Given the description of an element on the screen output the (x, y) to click on. 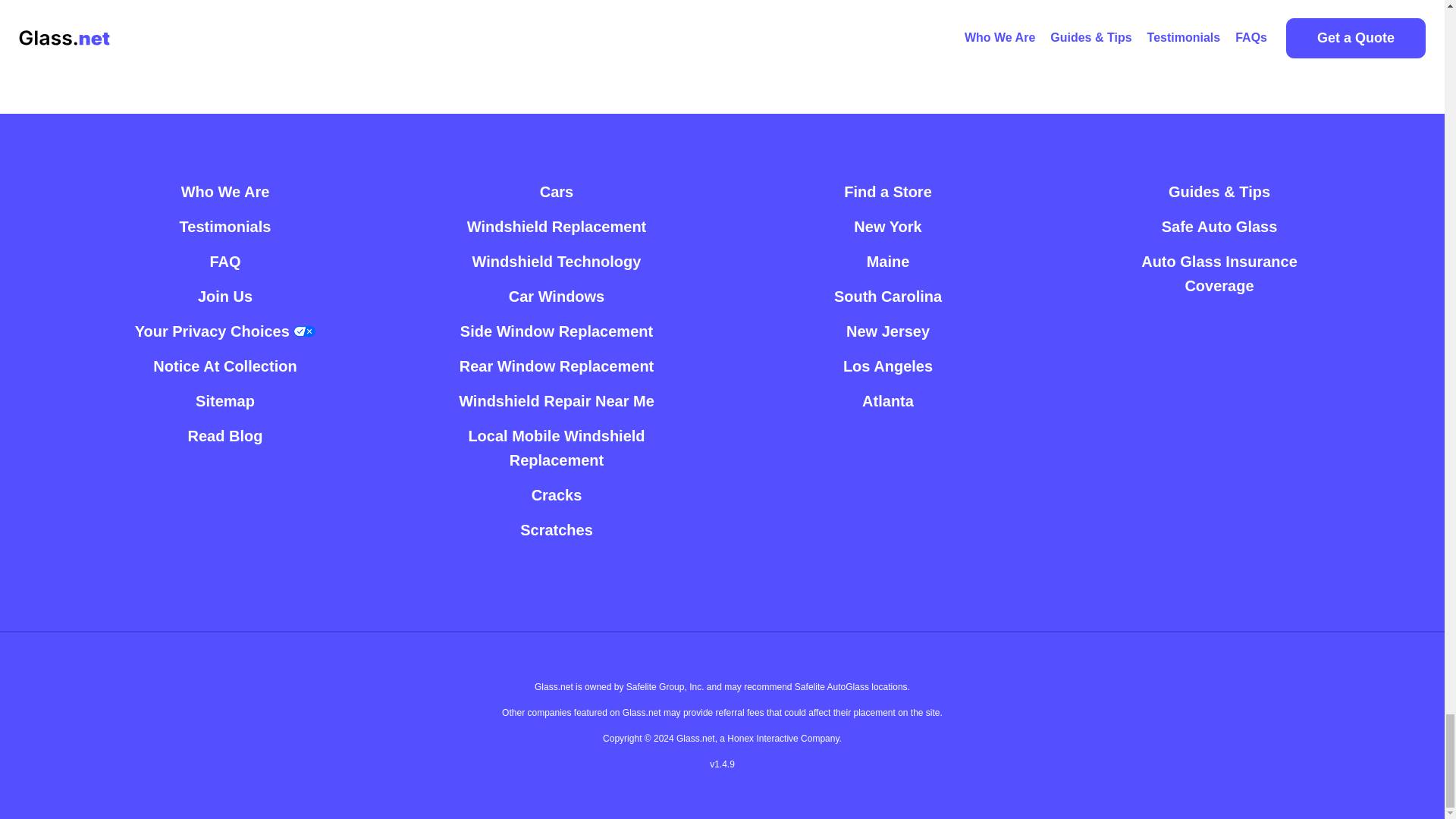
Mobile Glass Shops Join Glass.NET (224, 296)
Car Windows (556, 296)
Notice At Collection  (224, 366)
Glass.NET Website Sitemap  (224, 401)
Your Privacy Choices (225, 330)
Who We Are (224, 191)
Windshield Technology (556, 261)
Your Privacy Choices (225, 330)
Notice At Collection (224, 366)
Repair or Replace Auto Glass By Car Make (556, 191)
